Given the description of an element on the screen output the (x, y) to click on. 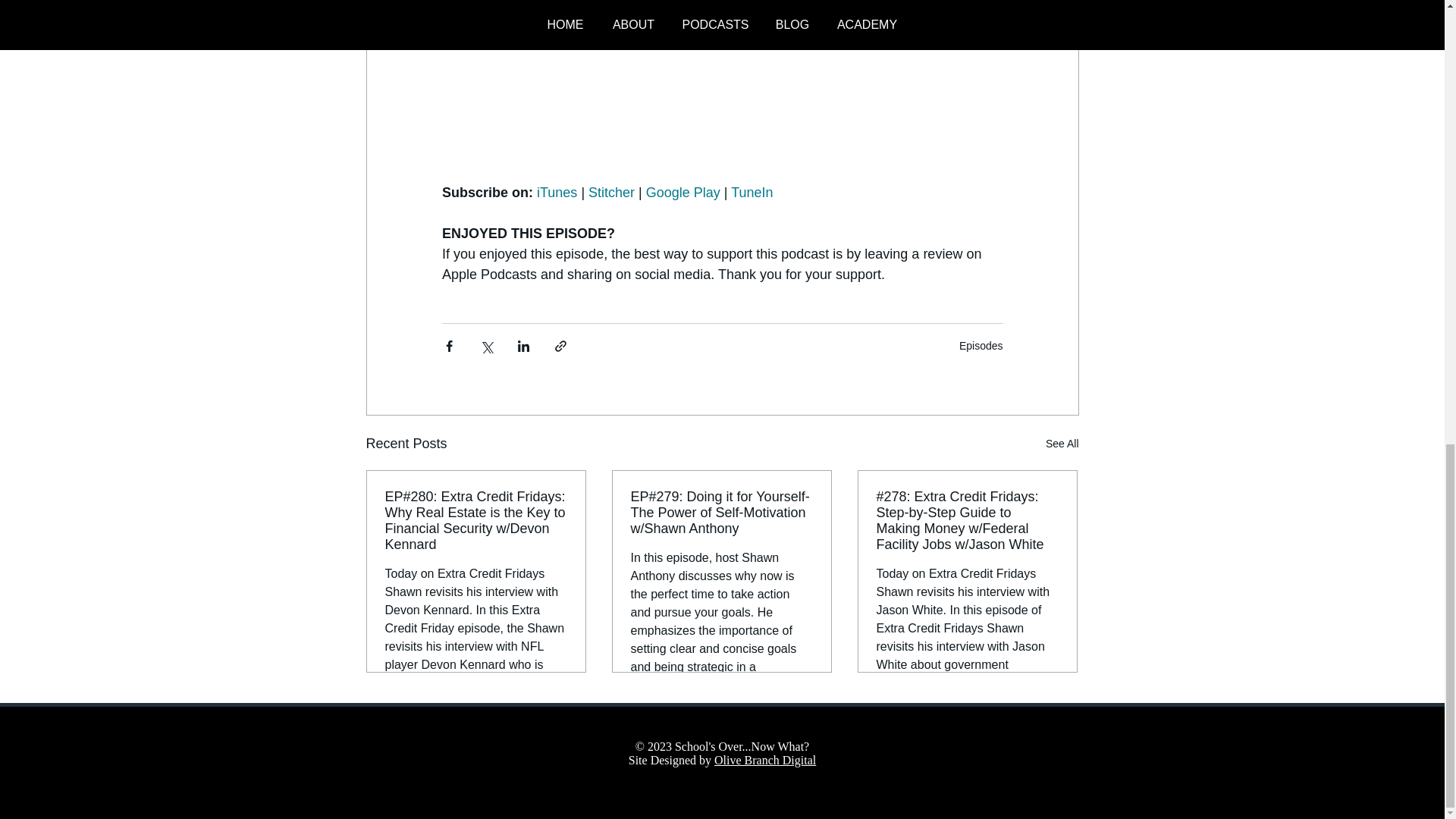
Stitcher (611, 192)
See All (1061, 444)
Olive Branch Digital (764, 759)
iTunes (556, 192)
Episodes (981, 345)
TuneIn (751, 192)
Google Play (682, 192)
